Given the description of an element on the screen output the (x, y) to click on. 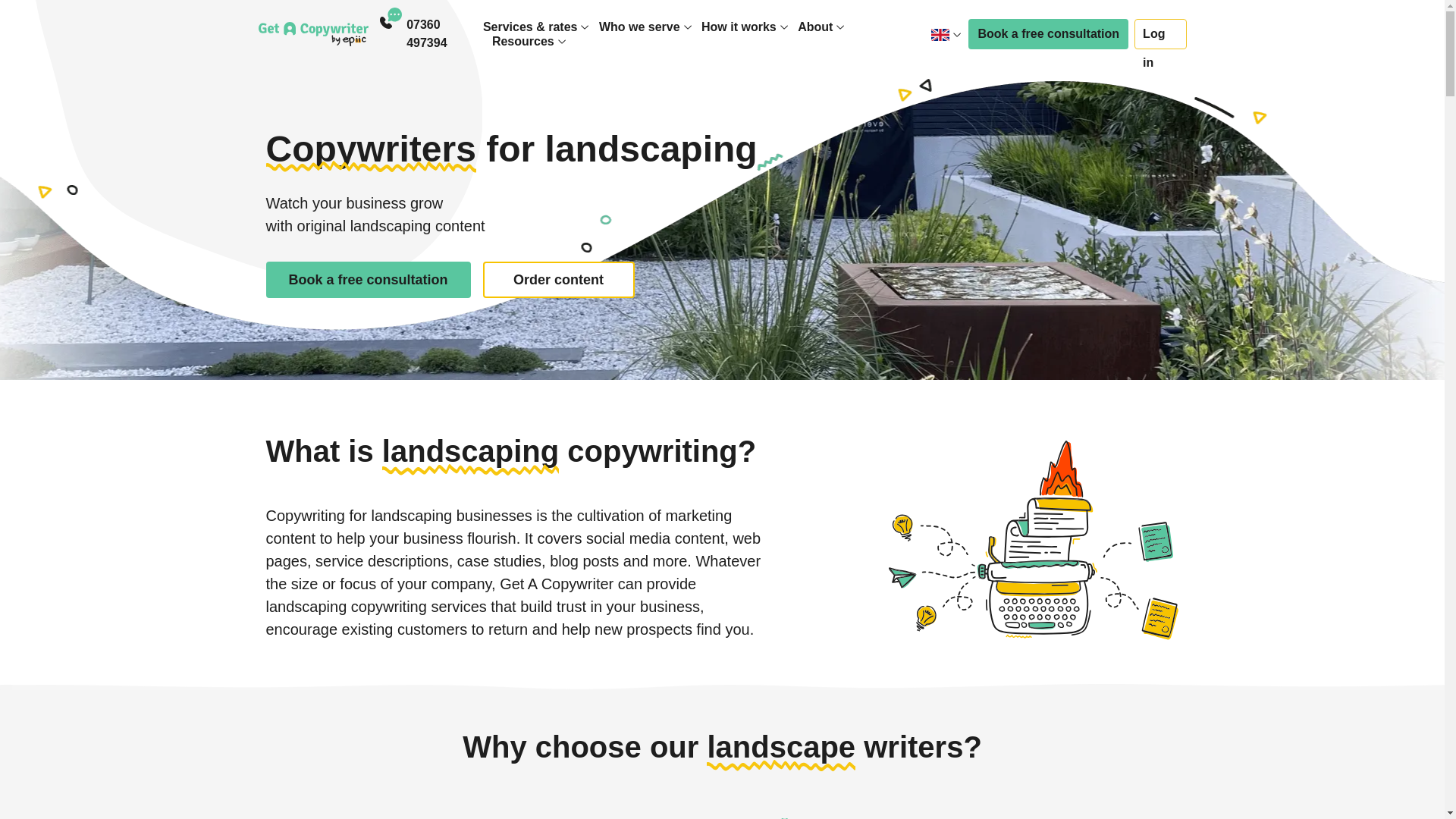
Who we serve (638, 26)
Resources (523, 41)
Get a copywriter (312, 33)
phone number (444, 33)
07360 497394 (444, 33)
About (814, 26)
How it works (738, 26)
